Given the description of an element on the screen output the (x, y) to click on. 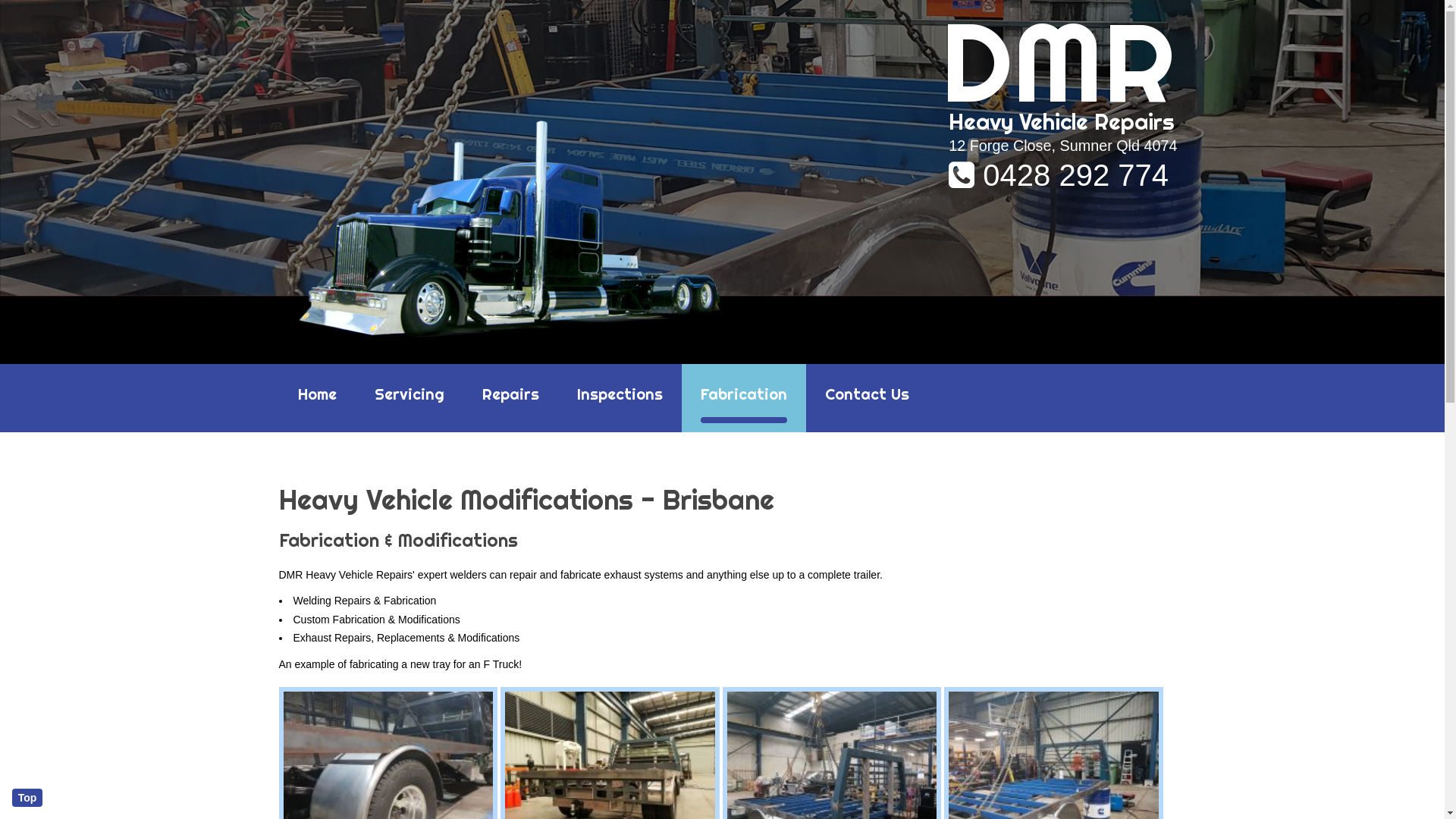
Top Element type: text (27, 797)
Fabrication Element type: text (742, 398)
Home Element type: text (317, 398)
Contact Us Element type: text (866, 398)
Servicing Element type: text (408, 398)
Inspections Element type: text (619, 398)
Repairs Element type: text (509, 398)
